Given the description of an element on the screen output the (x, y) to click on. 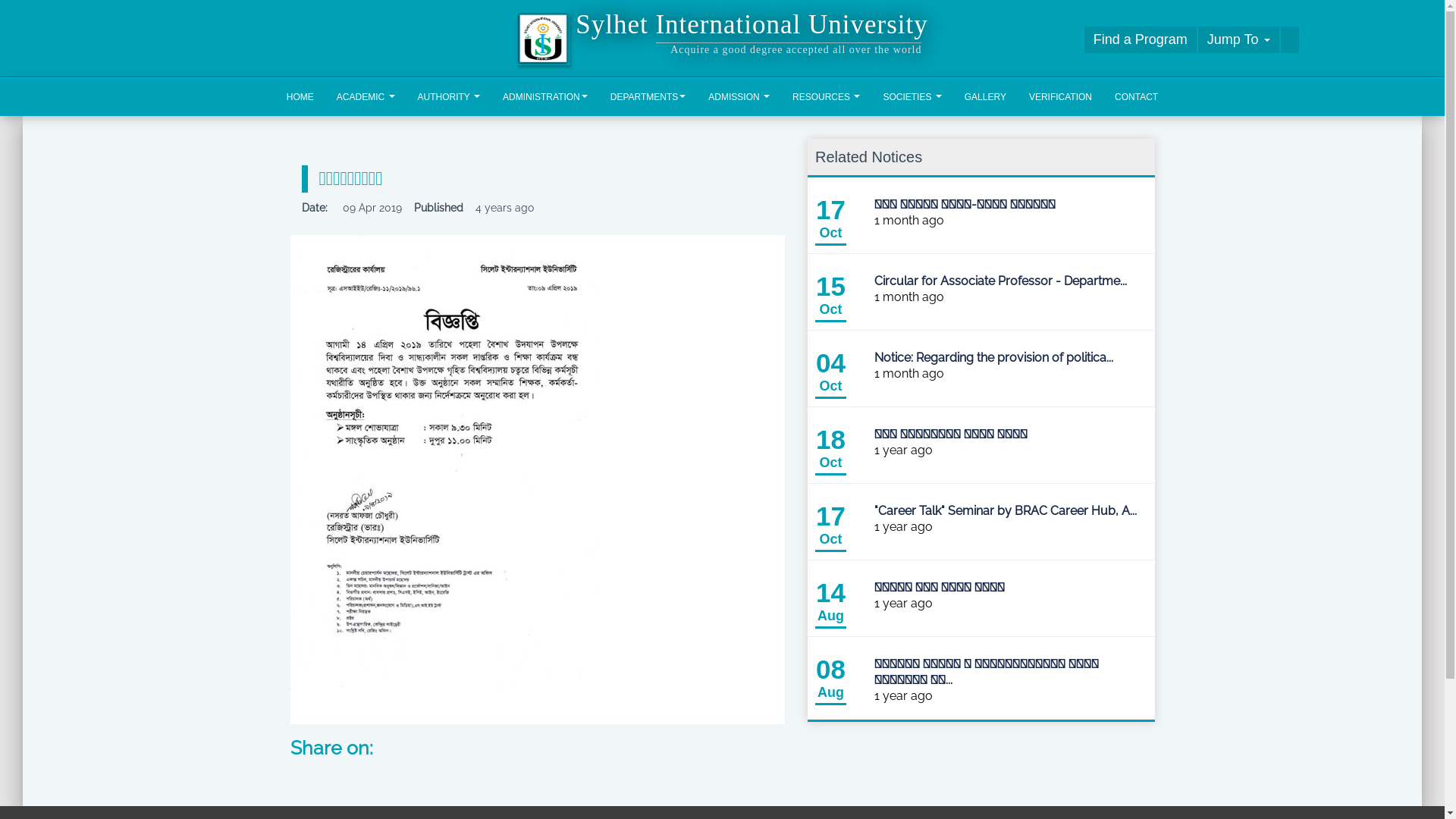
DEPARTMENTS Element type: text (648, 97)
ACADEMIC Element type: text (365, 97)
AUTHORITY Element type: text (448, 97)
HOME Element type: text (300, 97)
ADMISSION Element type: text (738, 97)
Jump To Element type: text (1238, 39)
Find a Program Element type: text (1140, 39)
VERIFICATION Element type: text (1060, 97)
RESOURCES Element type: text (826, 97)
SOCIETIES Element type: text (911, 97)
CONTACT Element type: text (1136, 97)
"Career Talk" Seminar by BRAC Career Hub, A... Element type: text (1005, 510)
Circular for Associate Professor - Departme... Element type: text (1000, 280)
ADMINISTRATION Element type: text (545, 97)
Notice: Regarding the provision of politica... Element type: text (993, 357)
GALLERY Element type: text (985, 97)
